Given the description of an element on the screen output the (x, y) to click on. 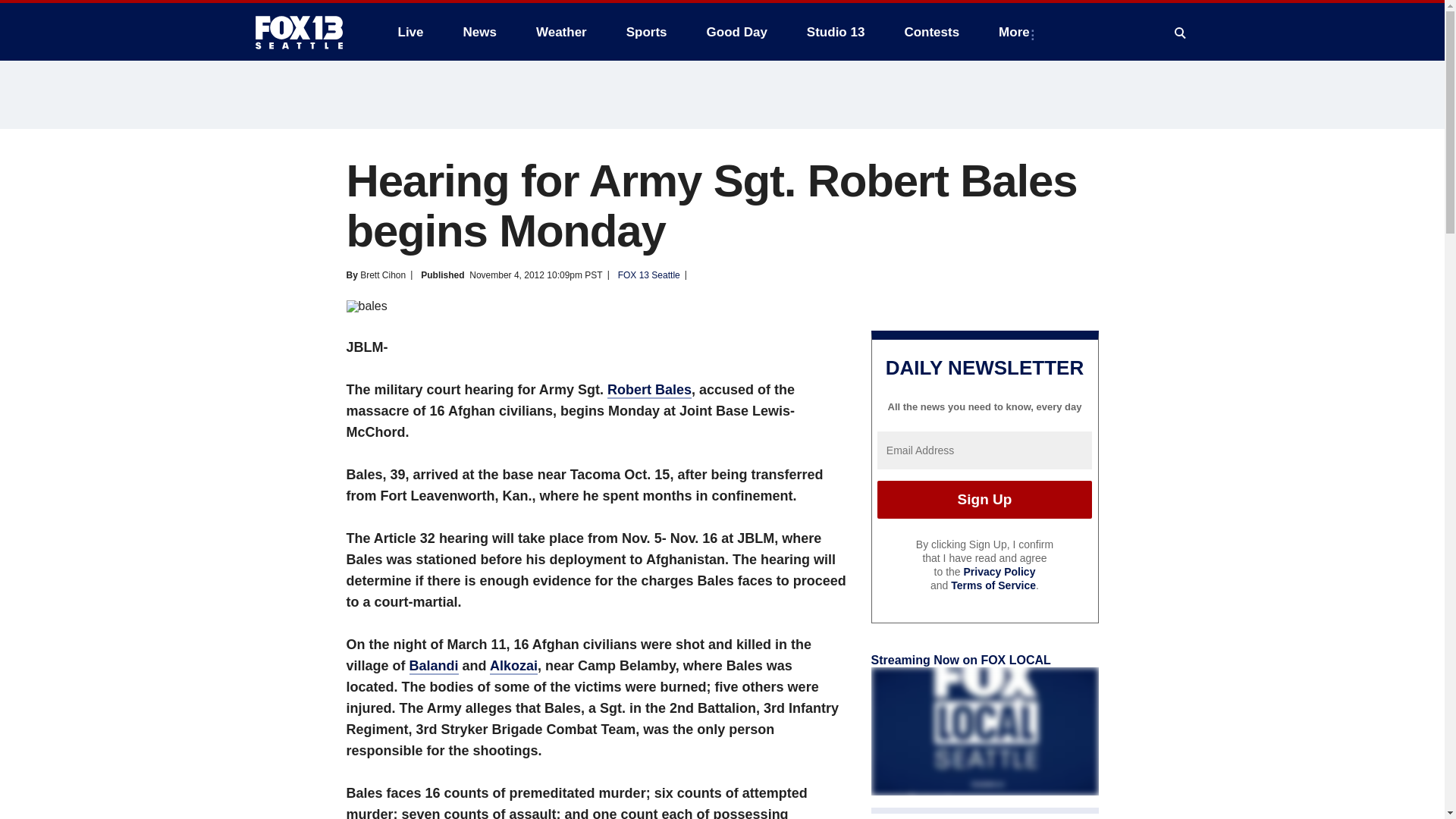
Weather (561, 32)
Live (410, 32)
Contests (931, 32)
Sign Up (984, 499)
Studio 13 (835, 32)
More (1017, 32)
Sports (646, 32)
Good Day (736, 32)
News (479, 32)
